Given the description of an element on the screen output the (x, y) to click on. 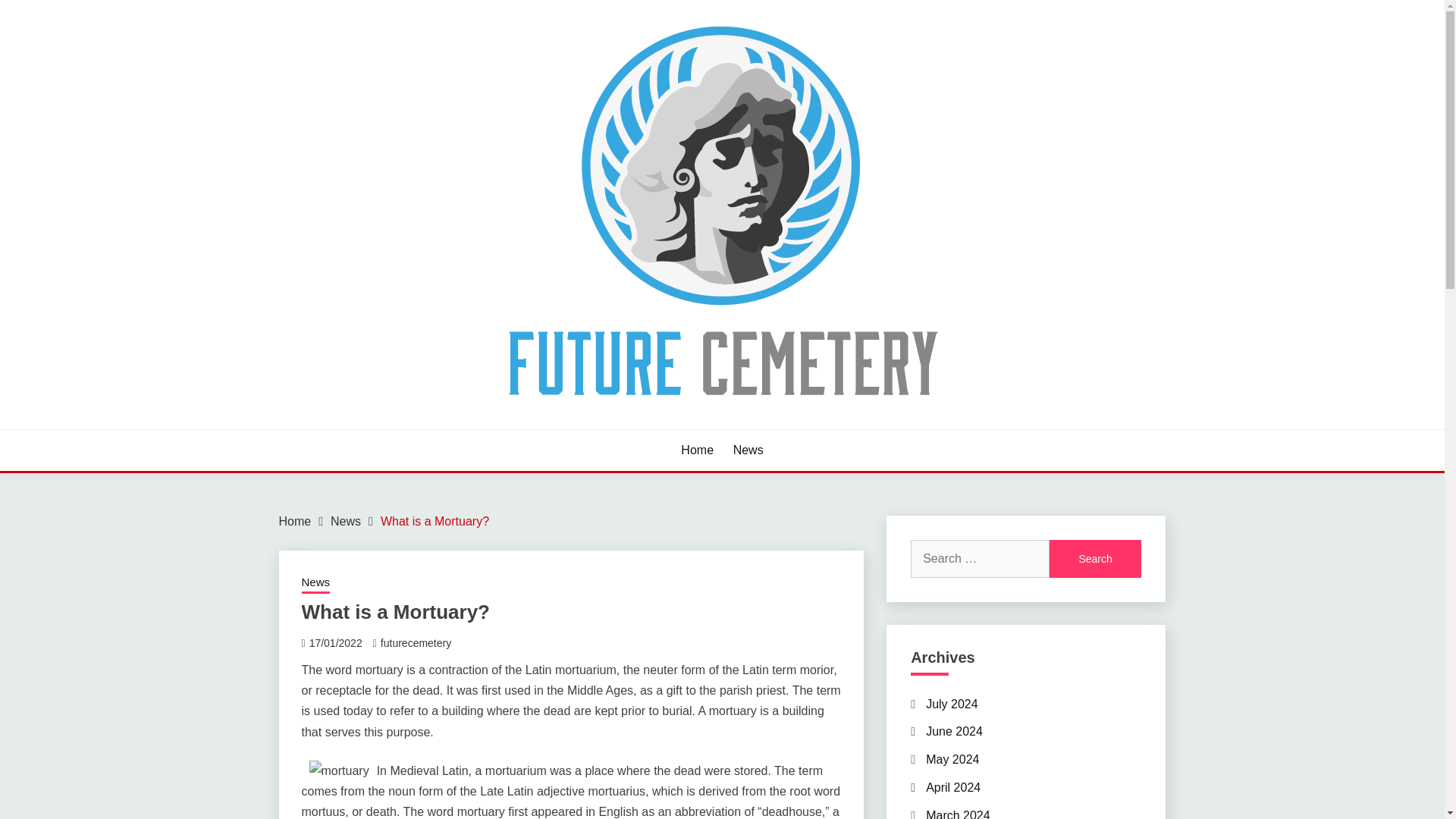
News (747, 450)
Home (697, 450)
futurecemetery (415, 643)
News (315, 583)
March 2024 (958, 814)
July 2024 (952, 703)
News (345, 521)
FUTURE CEMETERY (416, 427)
Search (1095, 558)
What is a Mortuary? (434, 521)
April 2024 (952, 787)
Search (1095, 558)
Home (295, 521)
Search (1095, 558)
May 2024 (952, 758)
